Given the description of an element on the screen output the (x, y) to click on. 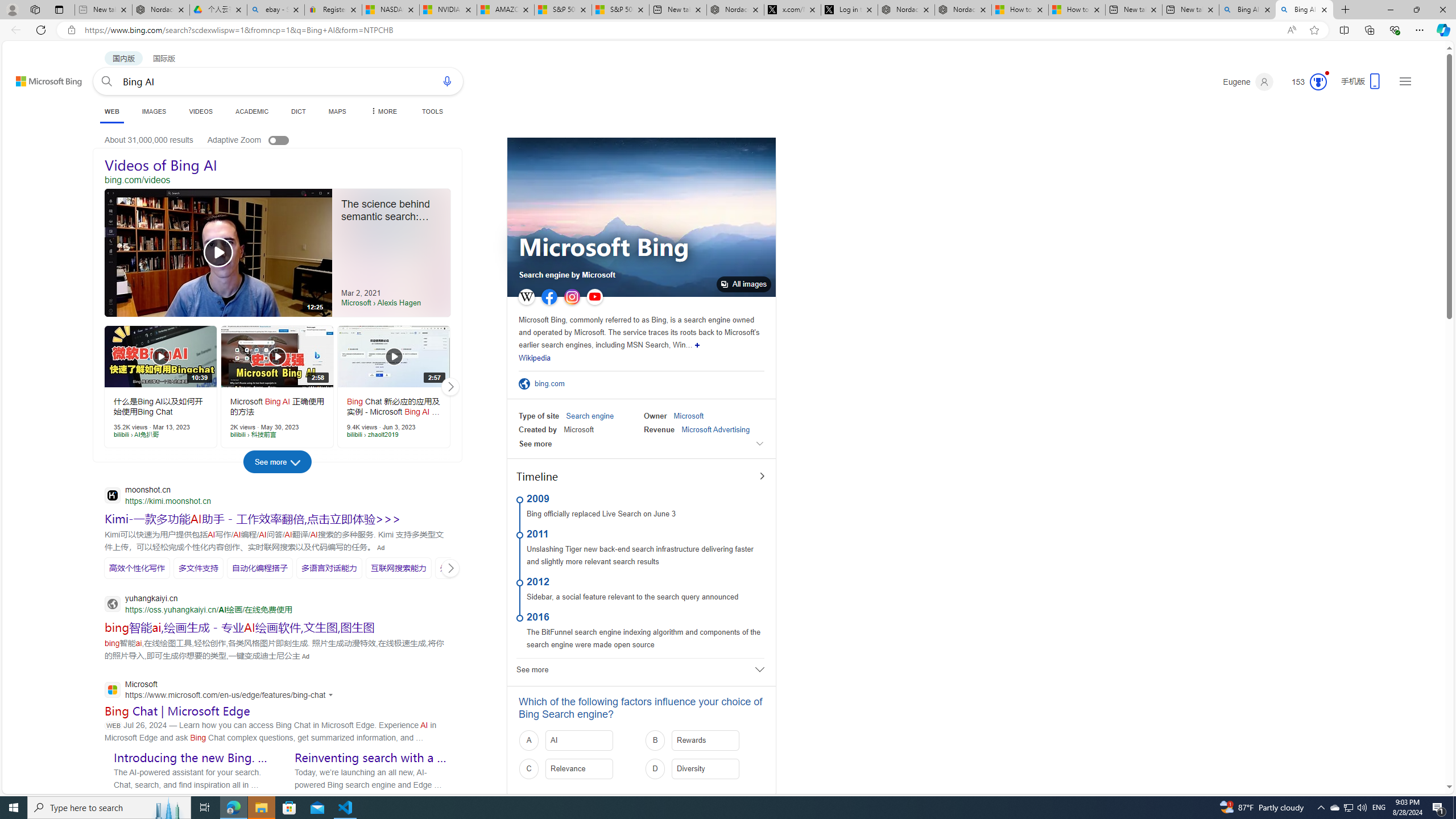
A AI (577, 740)
Search engine (590, 415)
SERP,5719 (463, 568)
Facebook (549, 296)
TOOLS (431, 111)
VIDEOS (201, 111)
IMAGES (153, 111)
B Rewards (704, 740)
Class: medal-circled (1317, 81)
